Given the description of an element on the screen output the (x, y) to click on. 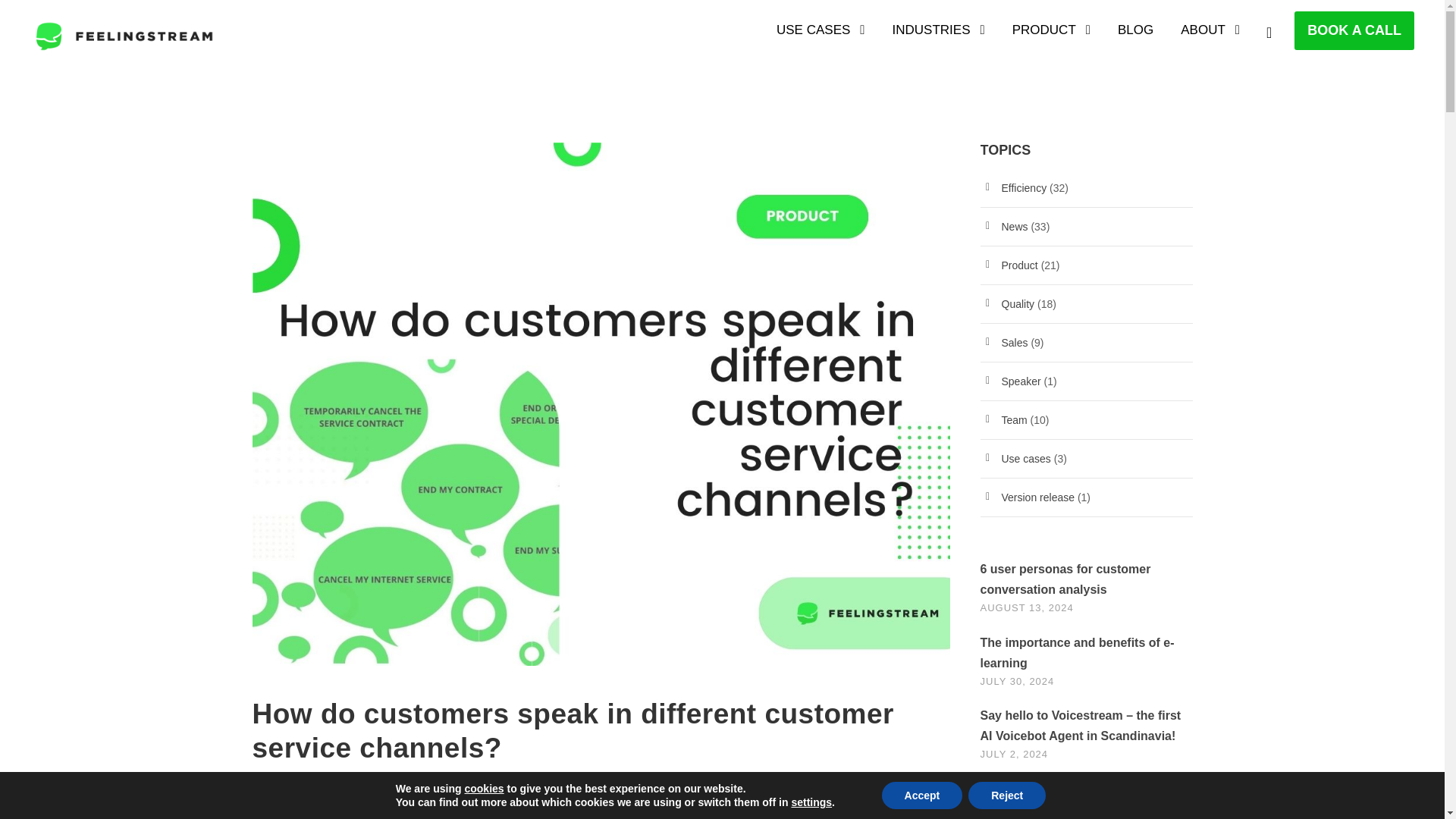
Feelingstream logo for web (124, 36)
USE CASES (820, 37)
Posts by Anette Lehismets (444, 789)
INDUSTRIES (938, 37)
